Given the description of an element on the screen output the (x, y) to click on. 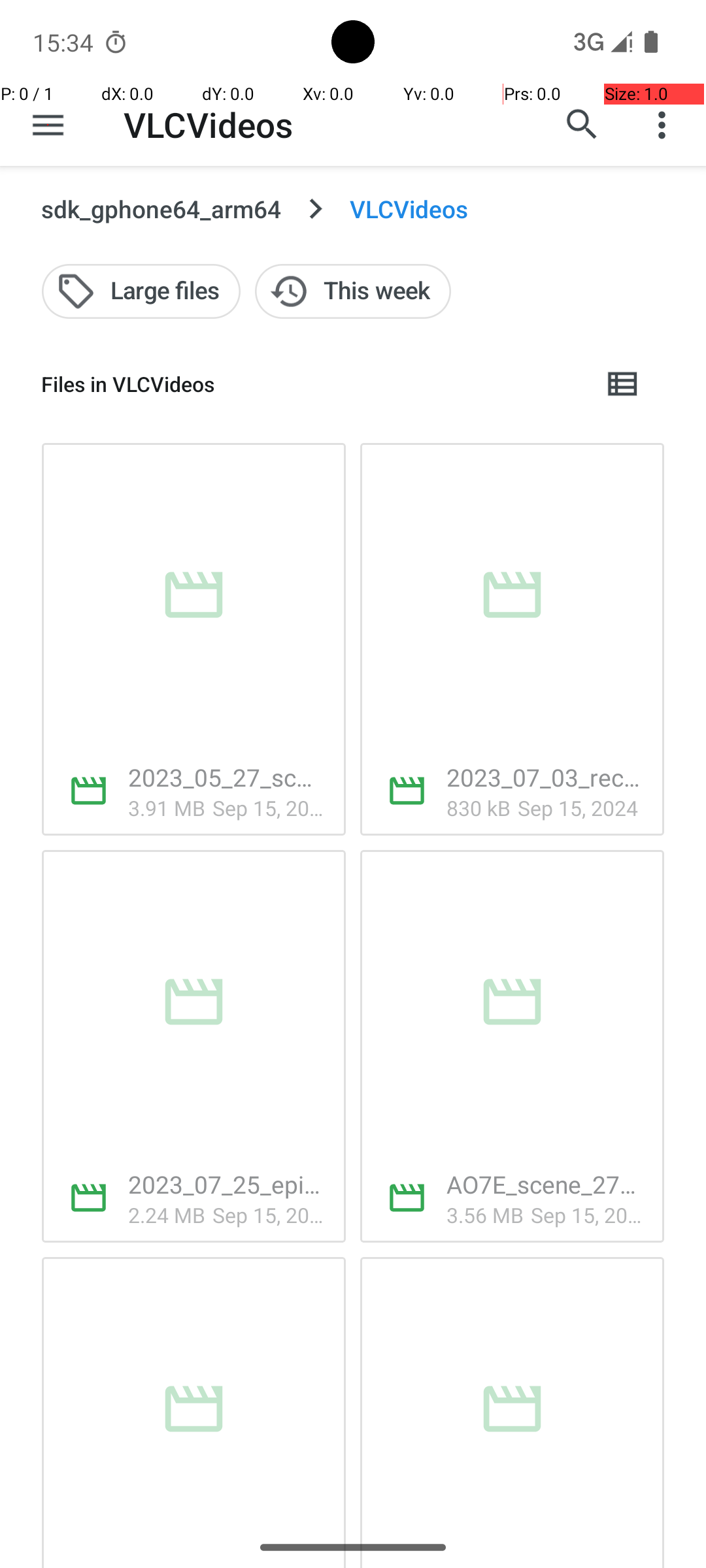
Files in VLCVideos Element type: android.widget.TextView (311, 383)
2023_05_27_scene_9_.mp4 Element type: android.widget.TextView (226, 776)
3.91 MB Element type: android.widget.TextView (166, 807)
Sep 15, 2024 Element type: android.widget.TextView (268, 807)
2023_07_03_recording_27_export.mp4 Element type: android.widget.TextView (544, 776)
830 kB Element type: android.widget.TextView (478, 807)
2023_07_25_episode_85_.mp4 Element type: android.widget.TextView (226, 1183)
2.24 MB Element type: android.widget.TextView (166, 1214)
AO7E_scene_27_.mp4 Element type: android.widget.TextView (544, 1183)
3.56 MB Element type: android.widget.TextView (484, 1214)
